Given the description of an element on the screen output the (x, y) to click on. 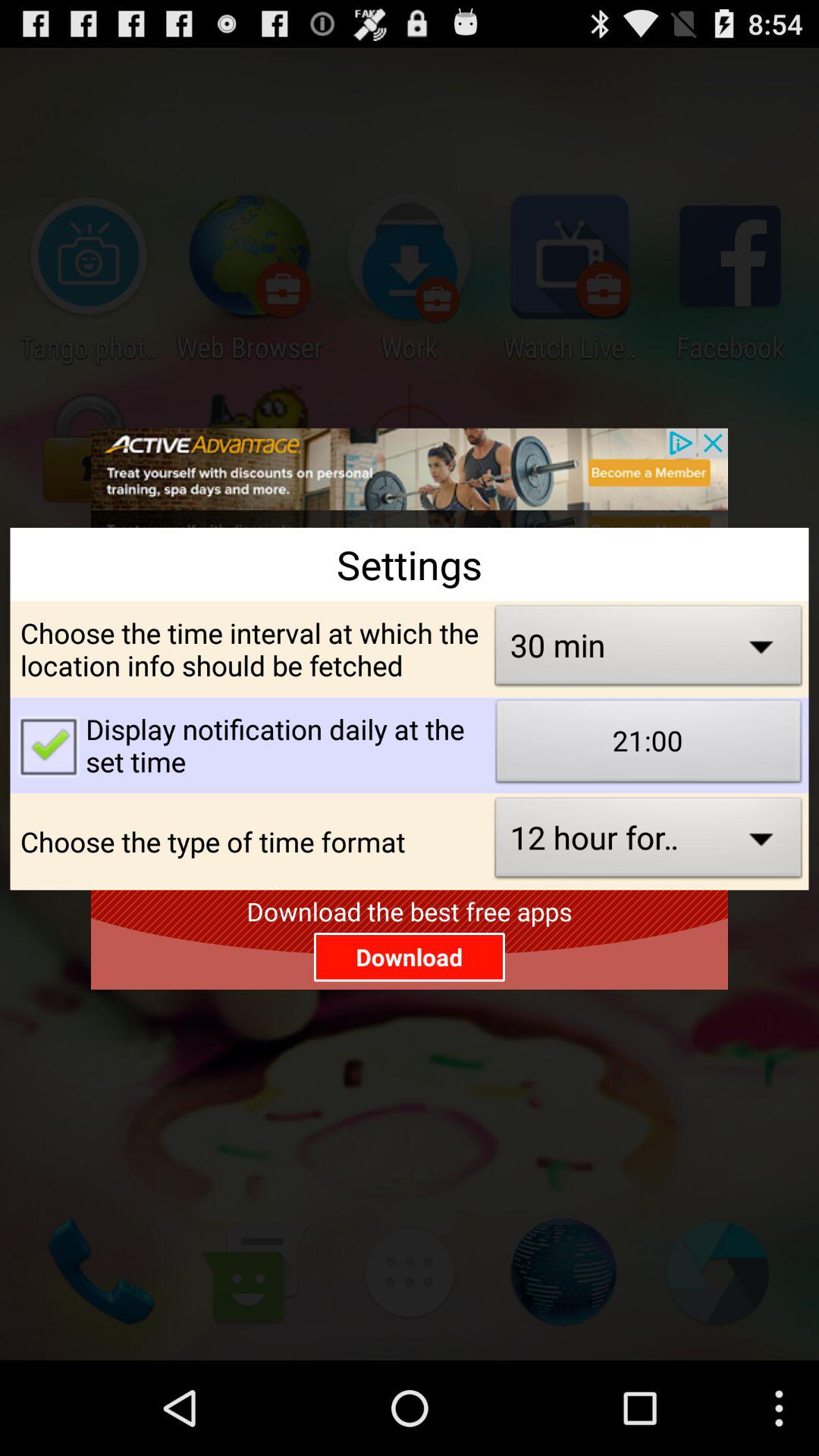
interact with advertisement (409, 477)
